Given the description of an element on the screen output the (x, y) to click on. 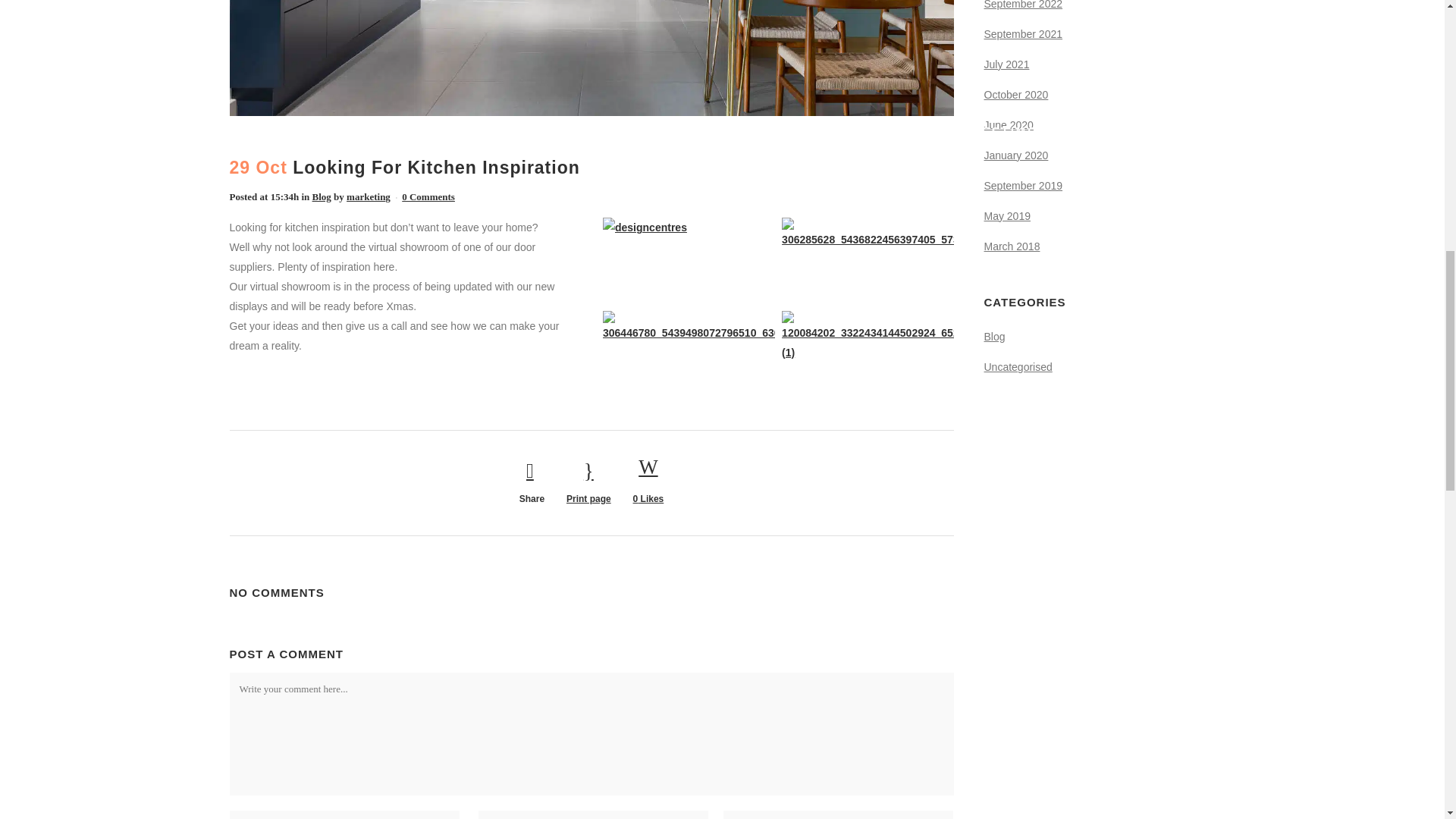
Print page (588, 482)
0 Comments (427, 196)
designcentres (689, 260)
marketing (368, 196)
Blog (322, 196)
